Given the description of an element on the screen output the (x, y) to click on. 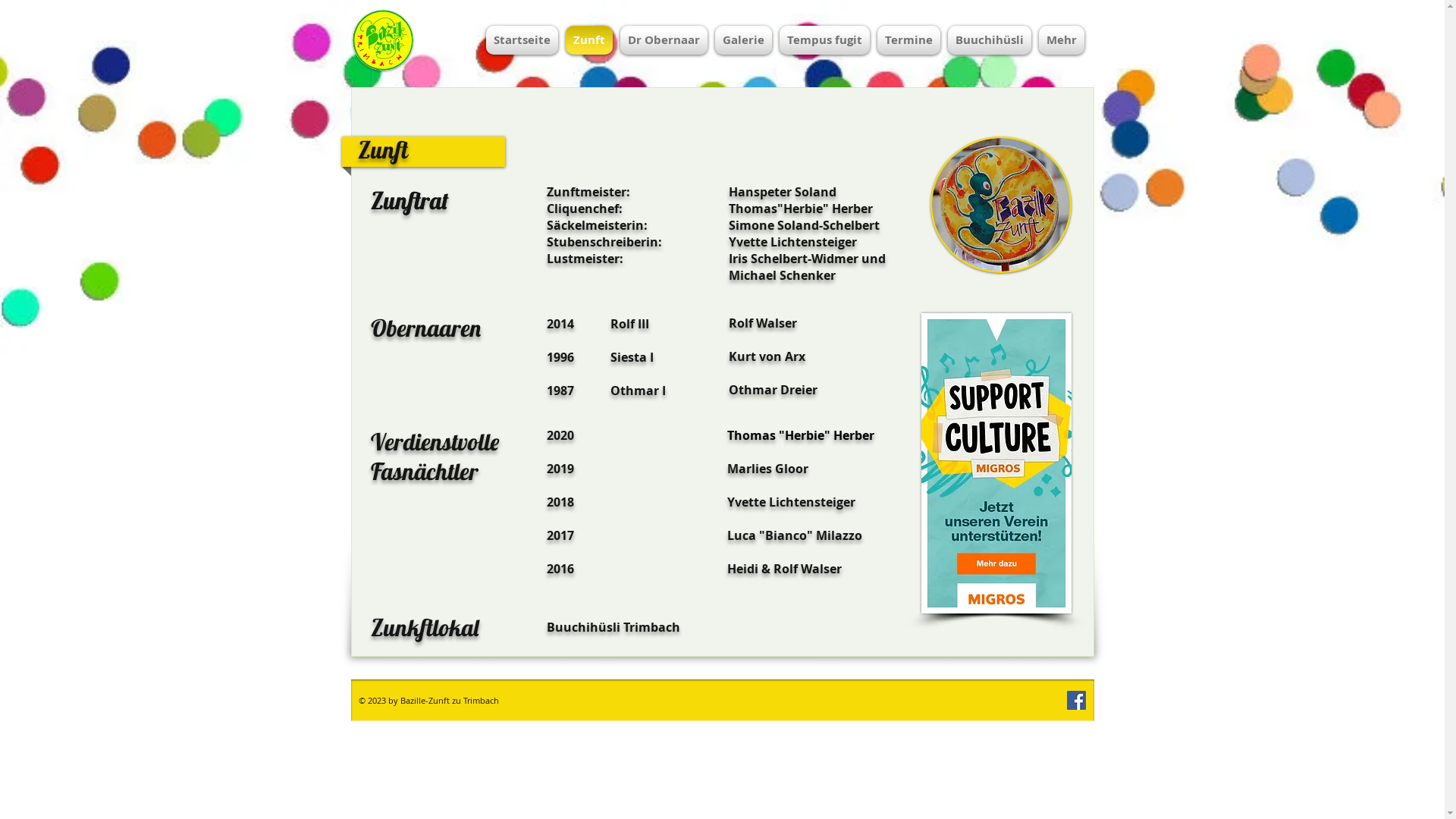
Startseite Element type: text (521, 39)
Dr Obernaar Element type: text (662, 39)
Termine Element type: text (908, 39)
Tempus fugit Element type: text (823, 39)
Logo 01 - verwenden.jpg Element type: hover (381, 39)
Galerie Element type: text (743, 39)
Zunft Element type: text (588, 39)
